Given the description of an element on the screen output the (x, y) to click on. 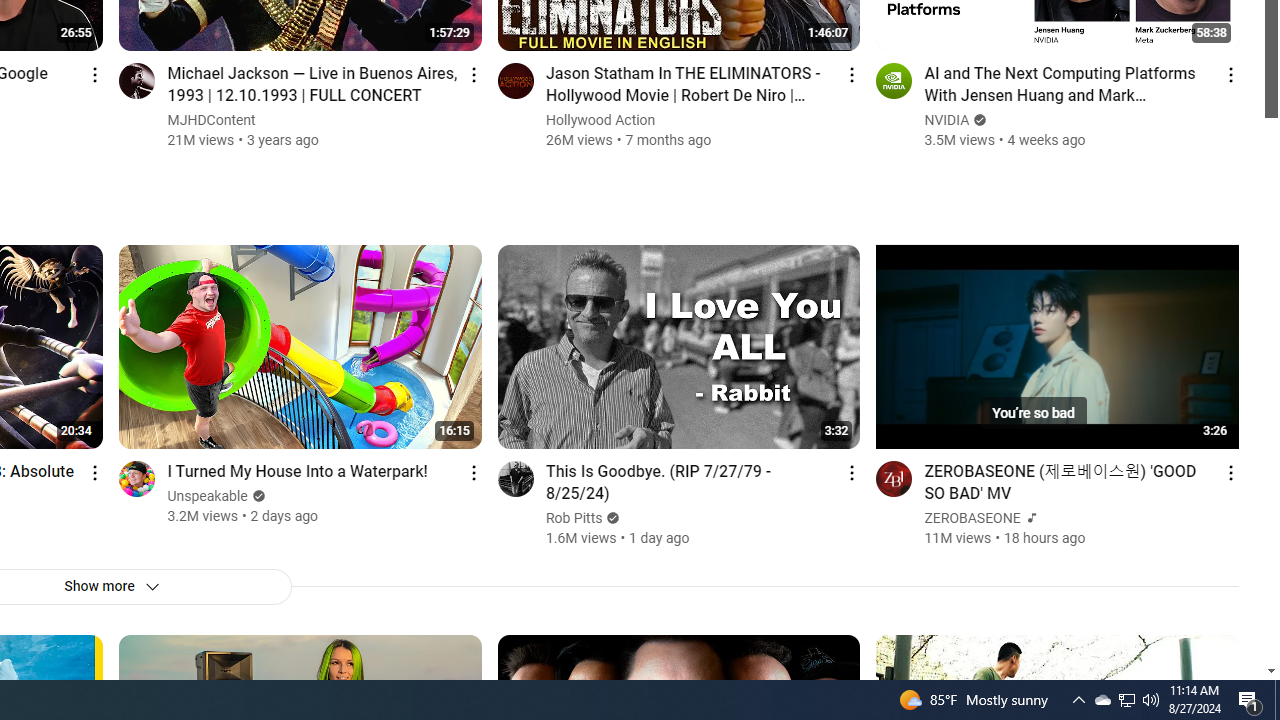
Rob Pitts (574, 518)
